Given the description of an element on the screen output the (x, y) to click on. 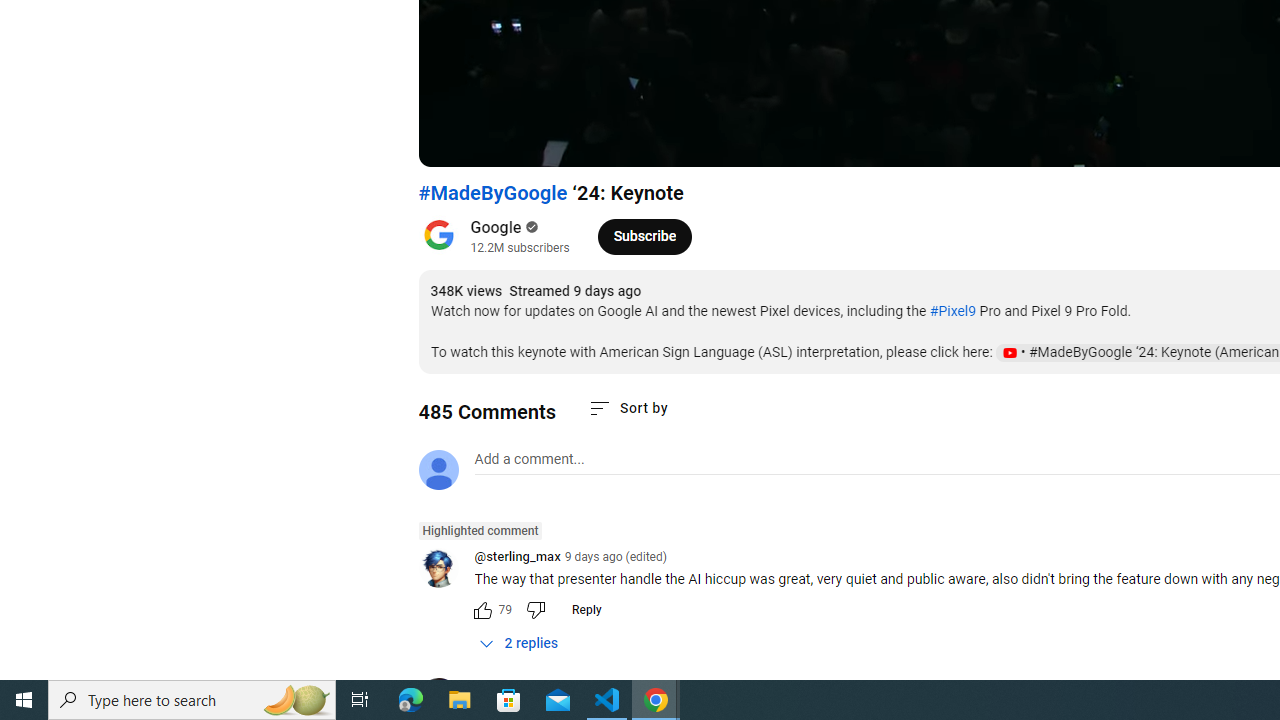
Verified (530, 227)
Sort comments (627, 408)
Next (SHIFT+n) (500, 142)
9 days ago (553, 687)
MadeByGoogle '24: Intro (749, 142)
Like this comment along with 79 other people (482, 609)
AutomationID: simplebox-placeholder (528, 459)
